Given the description of an element on the screen output the (x, y) to click on. 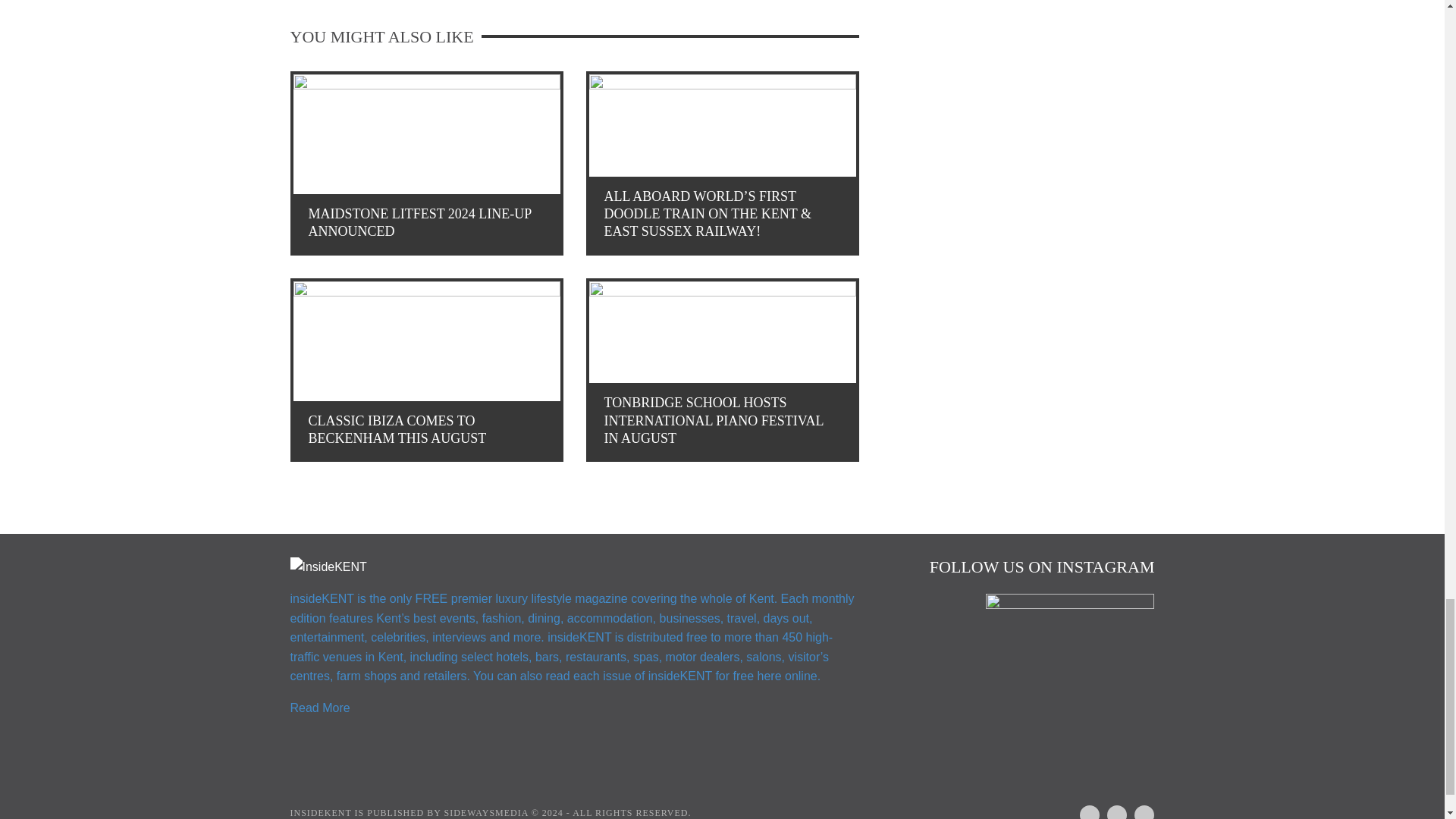
MAIDSTONE LITFEST 2024 LINE-UP ANNOUNCED (425, 163)
Twitter (1138, 809)
Facebook (1082, 809)
Instagram (1110, 809)
